Given the description of an element on the screen output the (x, y) to click on. 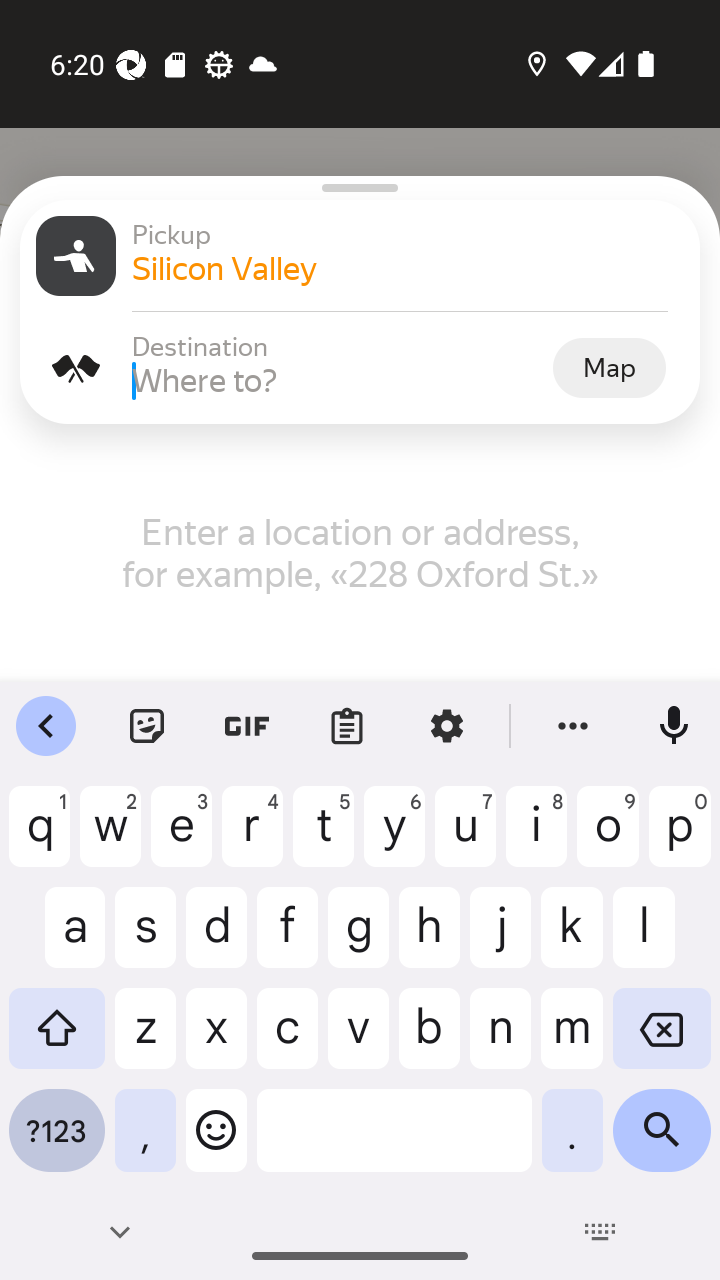
Pickup Pickup Silicon Valley (359, 255)
Silicon Valley (407, 268)
Destination Destination Where to? Map (359, 367)
Map (609, 367)
Where to? (340, 380)
